Given the description of an element on the screen output the (x, y) to click on. 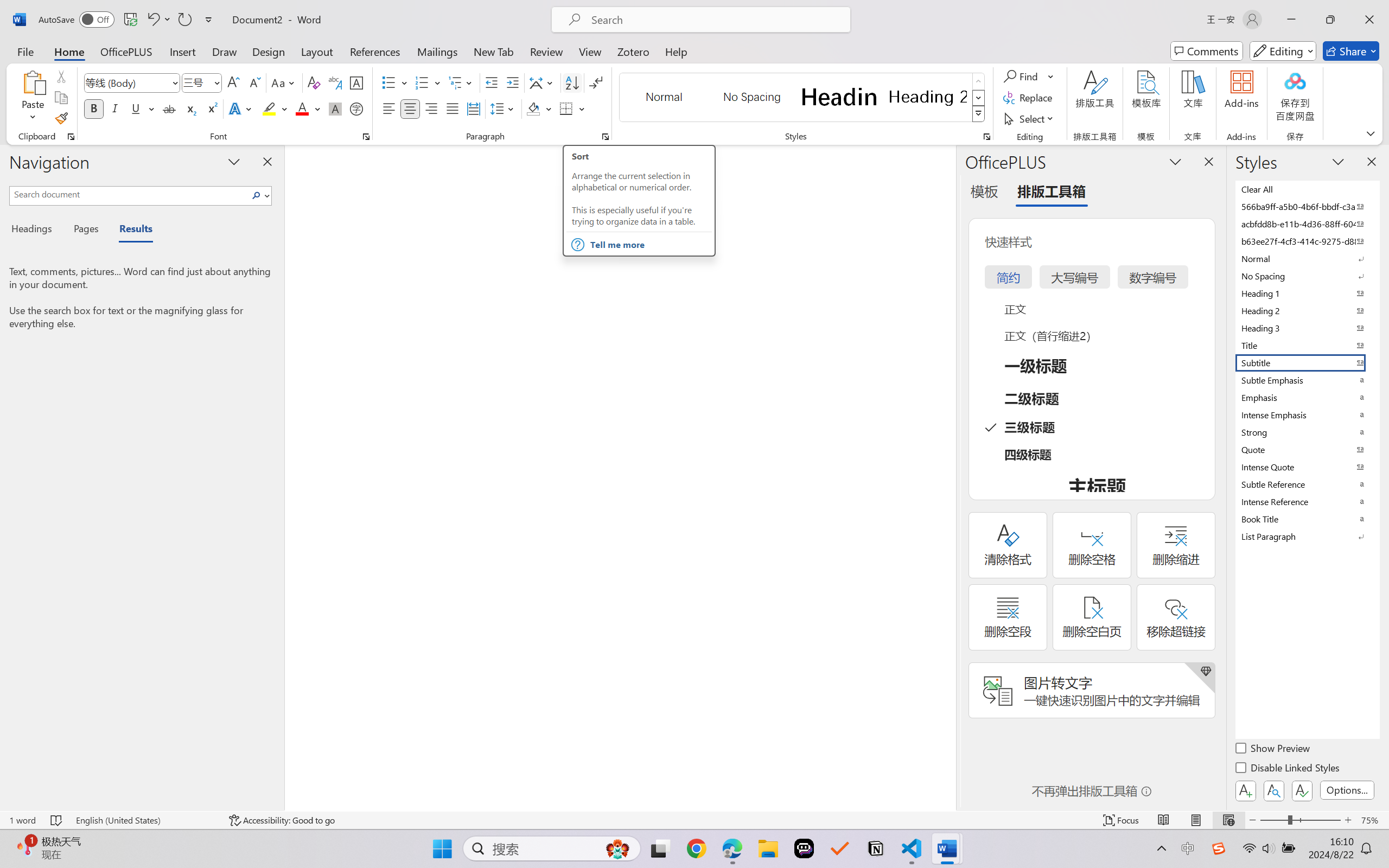
Manage (13, 801)
Go Forward (Alt+RightArrow) (535, 9)
File (28, 10)
Spaces: 4 (1220, 836)
Manage (13, 816)
